Given the description of an element on the screen output the (x, y) to click on. 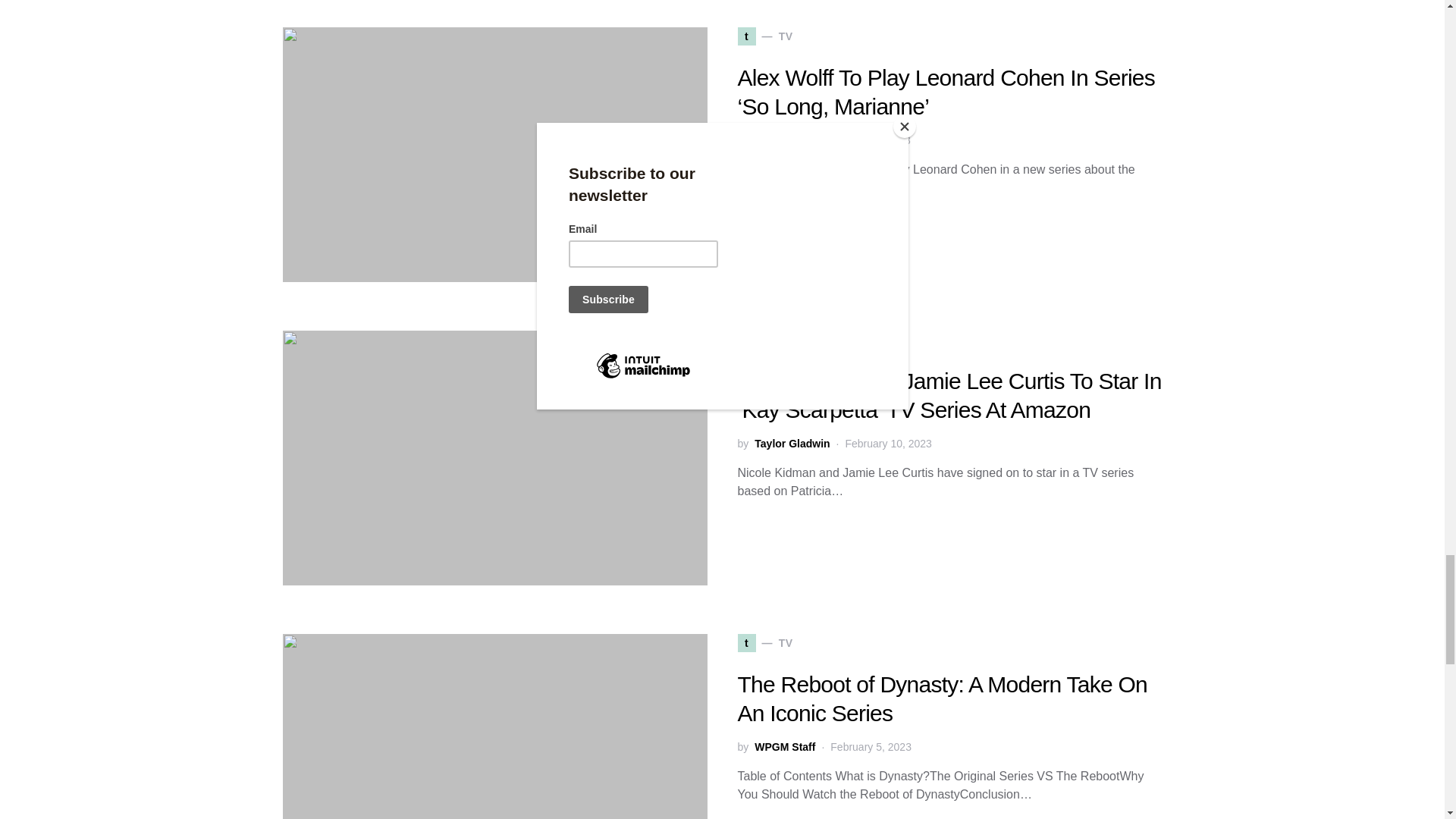
View all posts by Taylor Gladwin (791, 443)
View all posts by Taylor Gladwin (791, 140)
View all posts by WPGM Staff (784, 747)
